Given the description of an element on the screen output the (x, y) to click on. 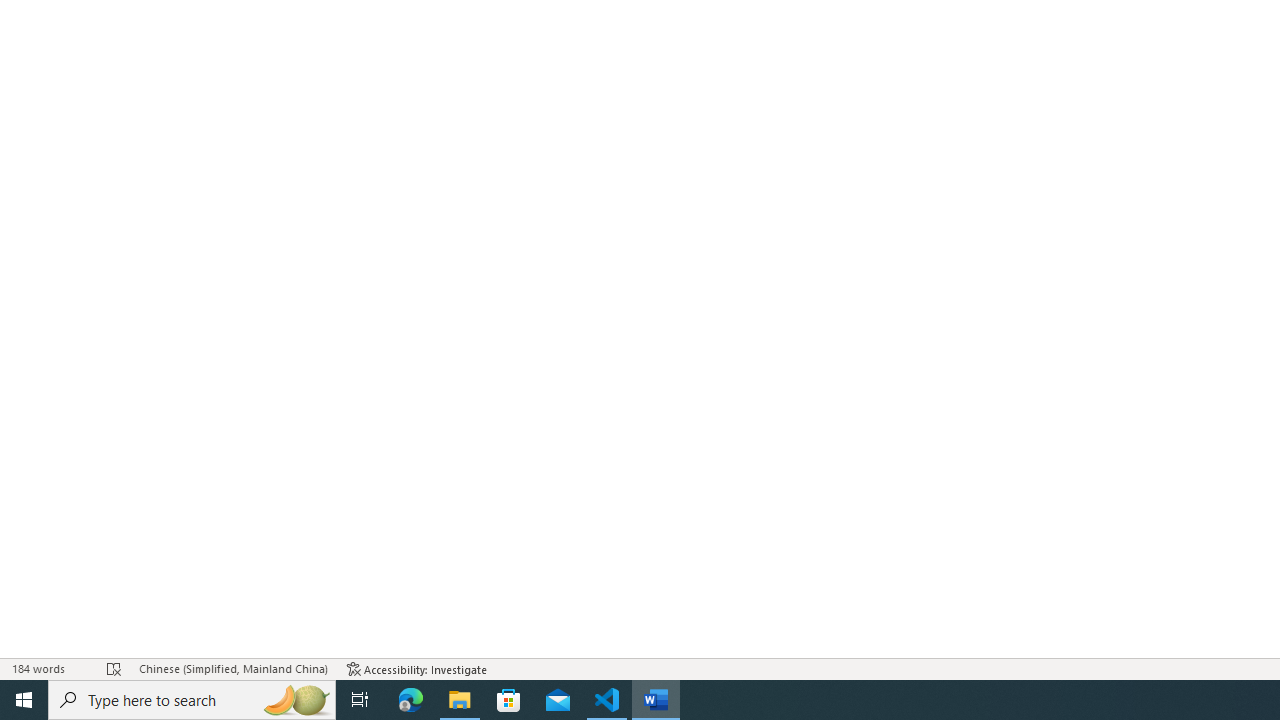
Spelling and Grammar Check Errors (114, 668)
Word Count 184 words (49, 668)
Language Chinese (Simplified, Mainland China) (232, 668)
Accessibility Checker Accessibility: Investigate (417, 668)
